Given the description of an element on the screen output the (x, y) to click on. 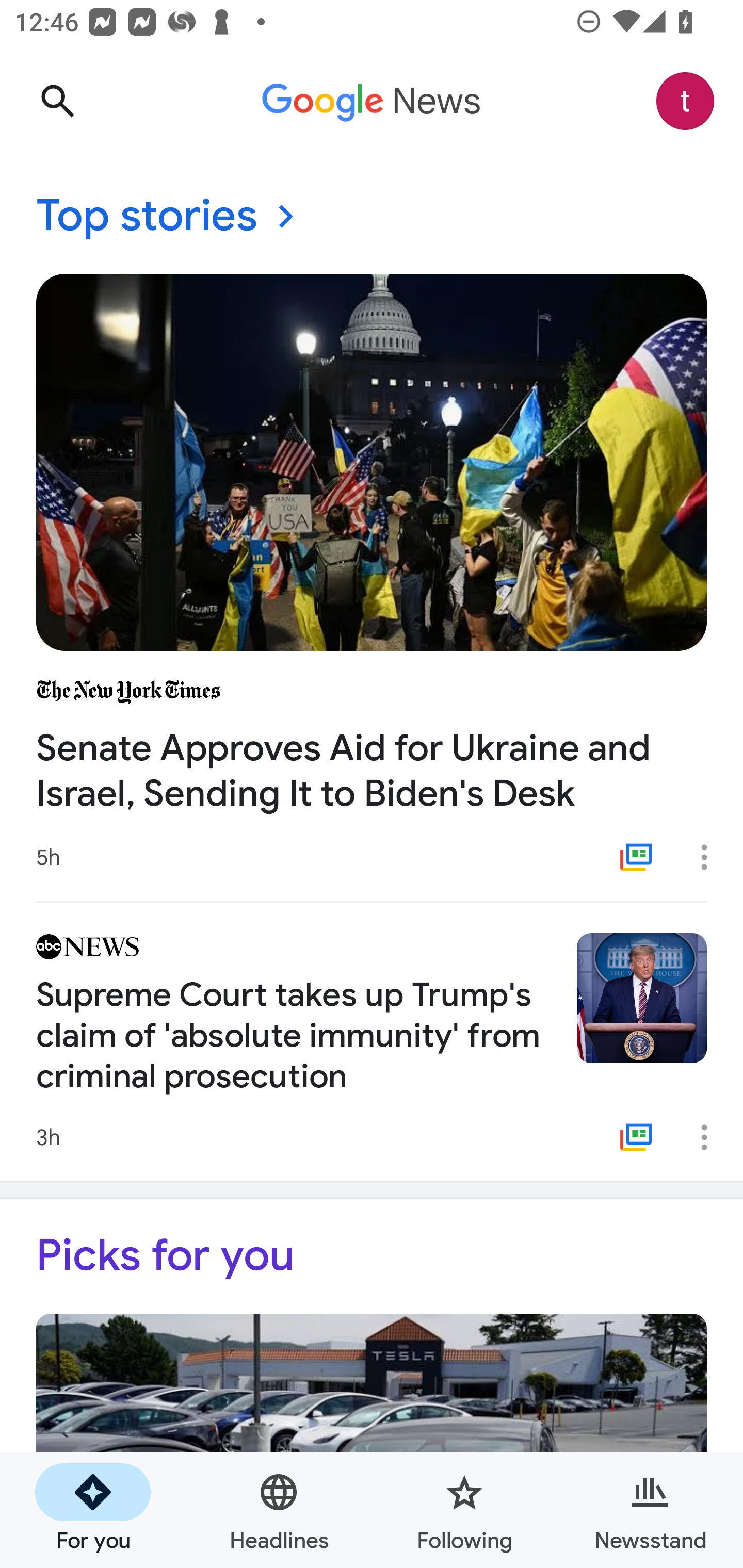
Search (57, 100)
Top stories (371, 216)
More options (711, 856)
More options (711, 1137)
For you (92, 1509)
Headlines (278, 1509)
Following (464, 1509)
Newsstand (650, 1509)
